Given the description of an element on the screen output the (x, y) to click on. 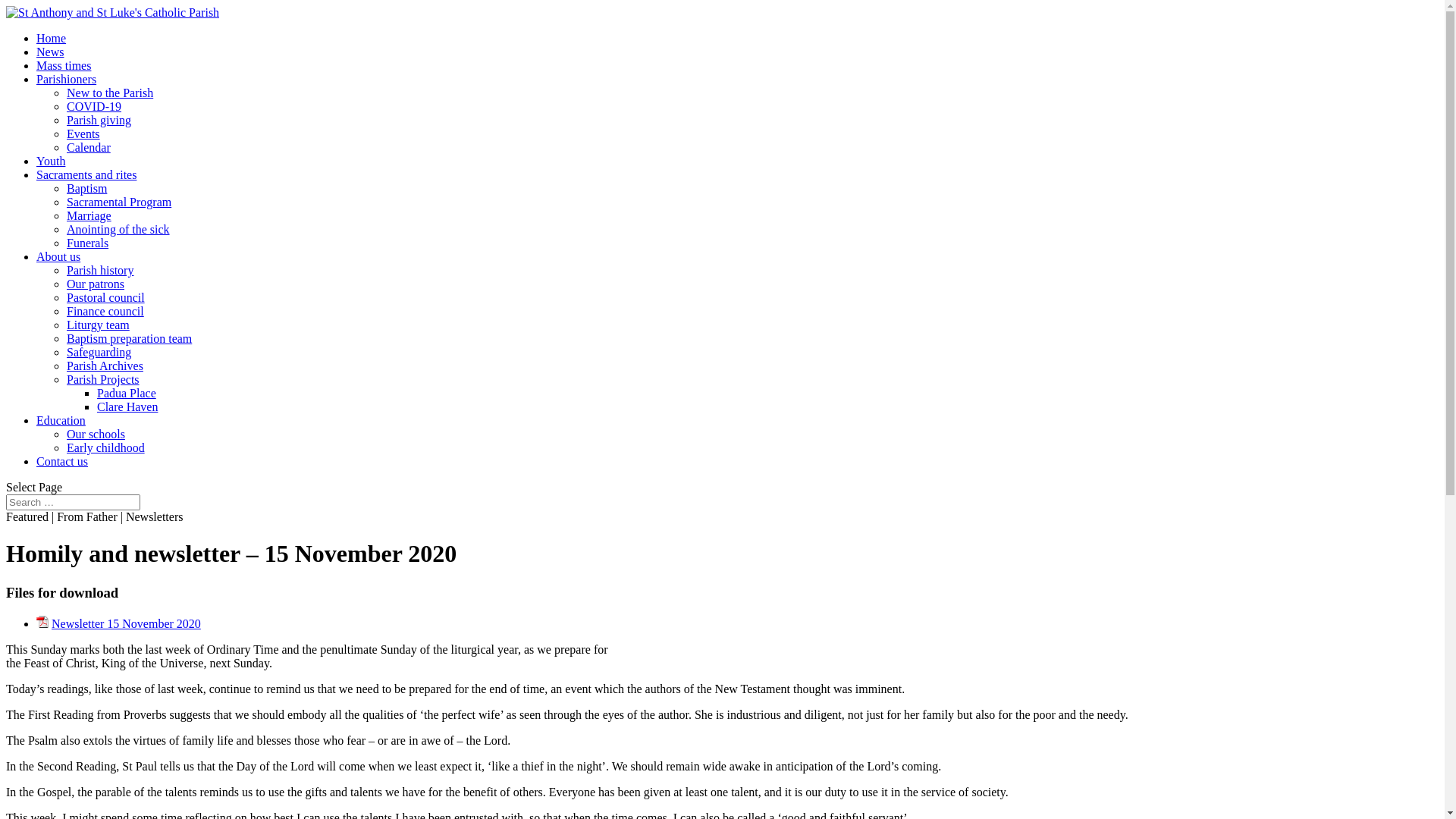
Parish history Element type: text (99, 269)
Sacramental Program Element type: text (118, 201)
Newsletter 15 November 2020 Element type: text (125, 623)
Safeguarding Element type: text (98, 351)
Anointing of the sick Element type: text (117, 228)
Finance council Element type: text (105, 310)
Funerals Element type: text (87, 242)
Calendar Element type: text (88, 147)
About us Element type: text (58, 256)
Baptism preparation team Element type: text (128, 338)
COVID-19 Element type: text (93, 106)
Parish giving Element type: text (98, 119)
Events Element type: text (83, 133)
Liturgy team Element type: text (97, 324)
Early childhood Element type: text (105, 447)
Pastoral council Element type: text (105, 297)
Home Element type: text (50, 37)
News Element type: text (49, 51)
Parish Projects Element type: text (102, 379)
Contact us Element type: text (61, 461)
Parish Archives Element type: text (104, 365)
Our schools Element type: text (95, 433)
Search for: Element type: hover (73, 502)
Baptism Element type: text (86, 188)
Our patrons Element type: text (95, 283)
Education Element type: text (60, 420)
Parishioners Element type: text (66, 78)
Clare Haven Element type: text (127, 406)
Mass times Element type: text (63, 65)
Sacraments and rites Element type: text (86, 174)
Padua Place Element type: text (126, 392)
Youth Element type: text (50, 160)
Marriage Element type: text (88, 215)
New to the Parish Element type: text (109, 92)
